Given the description of an element on the screen output the (x, y) to click on. 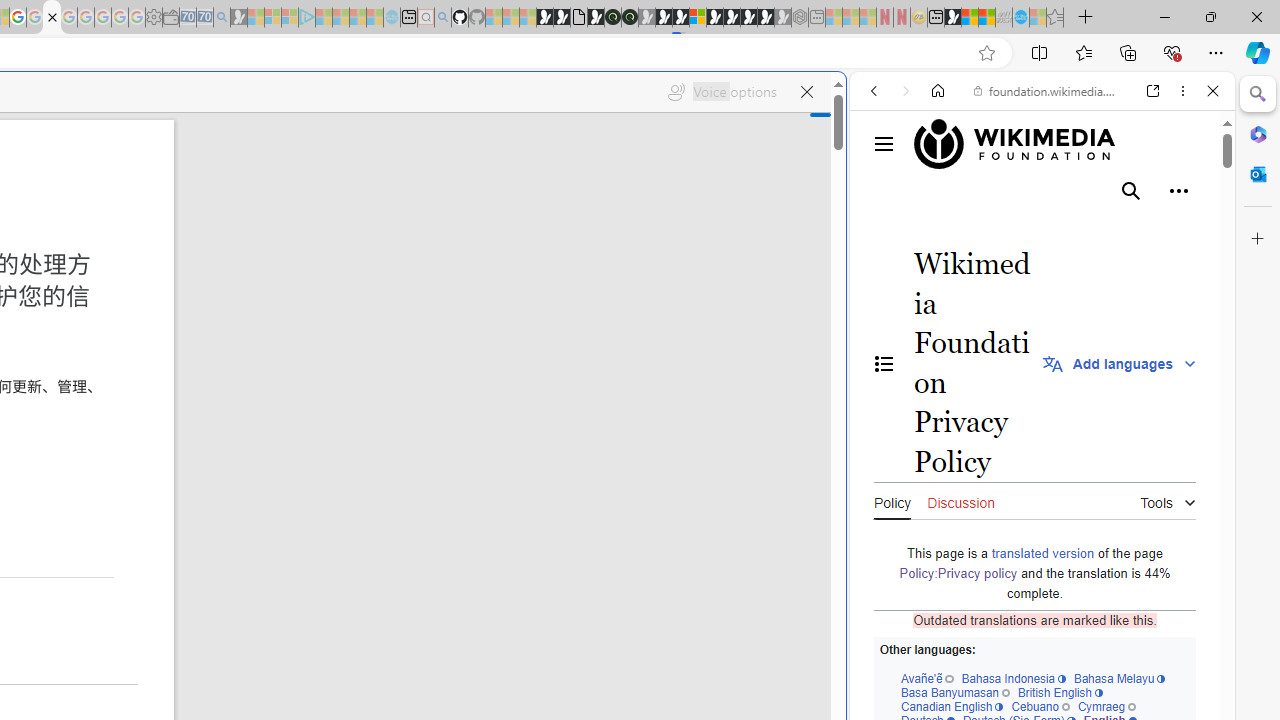
British English (1060, 691)
Tools (1167, 498)
Policy:Privacy policy (957, 573)
Discussion (960, 500)
Cebuano (1040, 706)
Basa Banyumasan (954, 691)
Policy (892, 500)
